Given the description of an element on the screen output the (x, y) to click on. 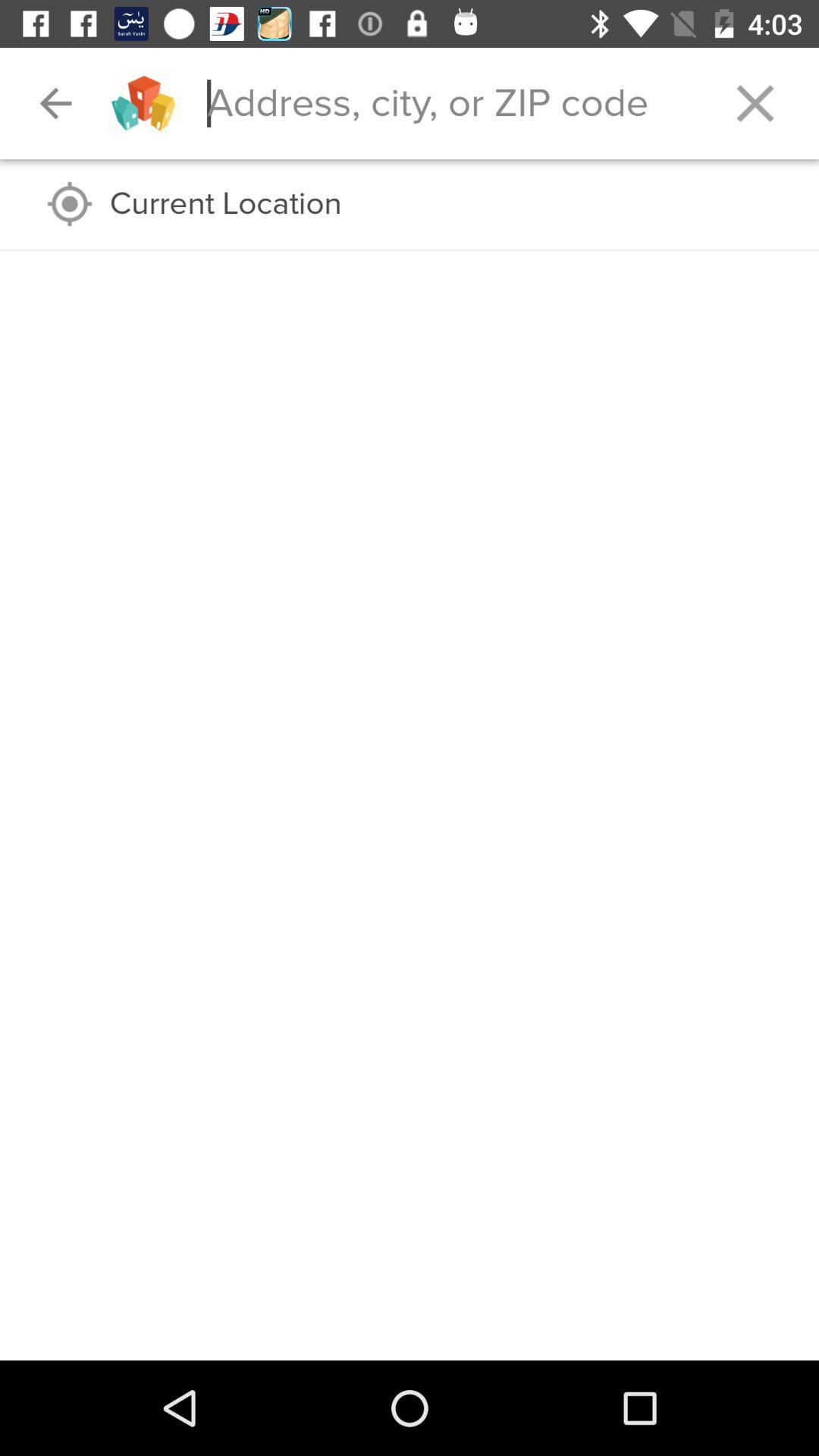
search box for city/zip code (449, 103)
